Given the description of an element on the screen output the (x, y) to click on. 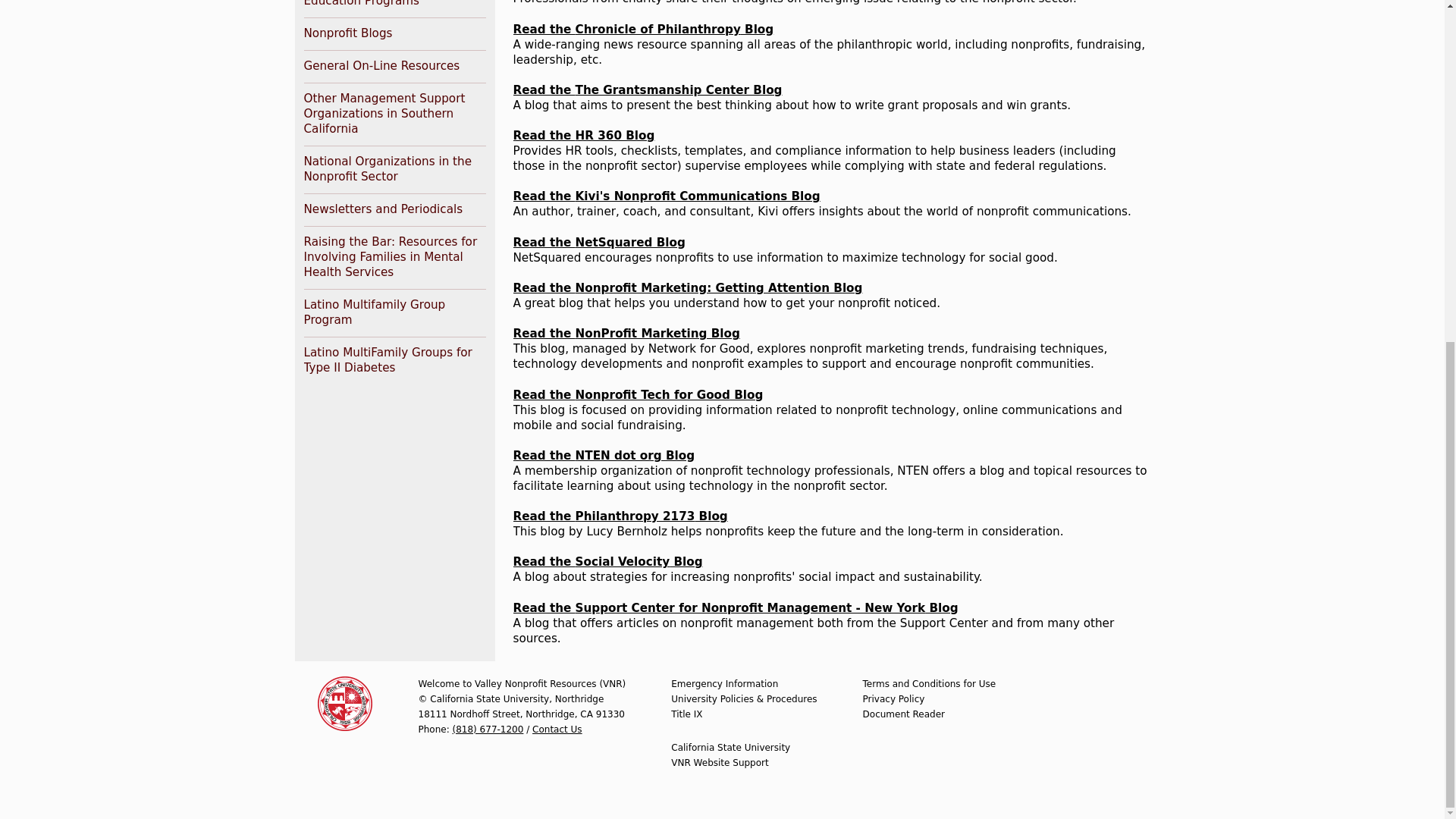
nine (698, 714)
Read the The Grantsmanship Center Blog (646, 90)
Read the Kivi's Nonprofit Communications Blog (665, 196)
Read the HR 360 Blog (582, 135)
Seal for California State University, Northridge (344, 703)
Read the Chronicle of Philanthropy Blog (642, 29)
Read the NetSquared Blog (598, 242)
